Given the description of an element on the screen output the (x, y) to click on. 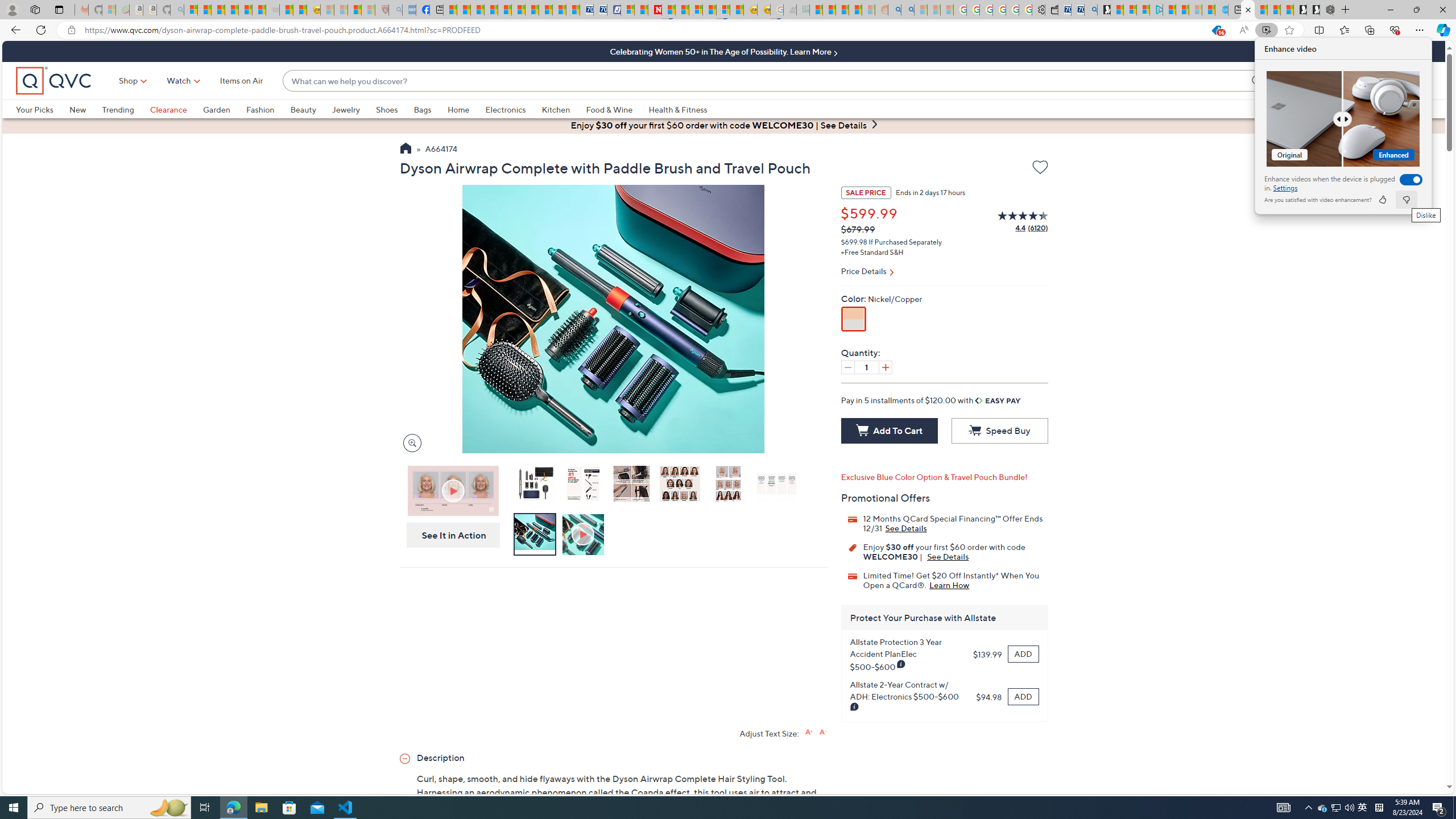
Latest Politics News & Archive | Newsweek.com (654, 9)
Zoom product image, opens image gallery dialog (408, 442)
Trending (125, 109)
New Report Confirms 2023 Was Record Hot | Watch (245, 9)
Increase quantity by 1 (884, 367)
